Given the description of an element on the screen output the (x, y) to click on. 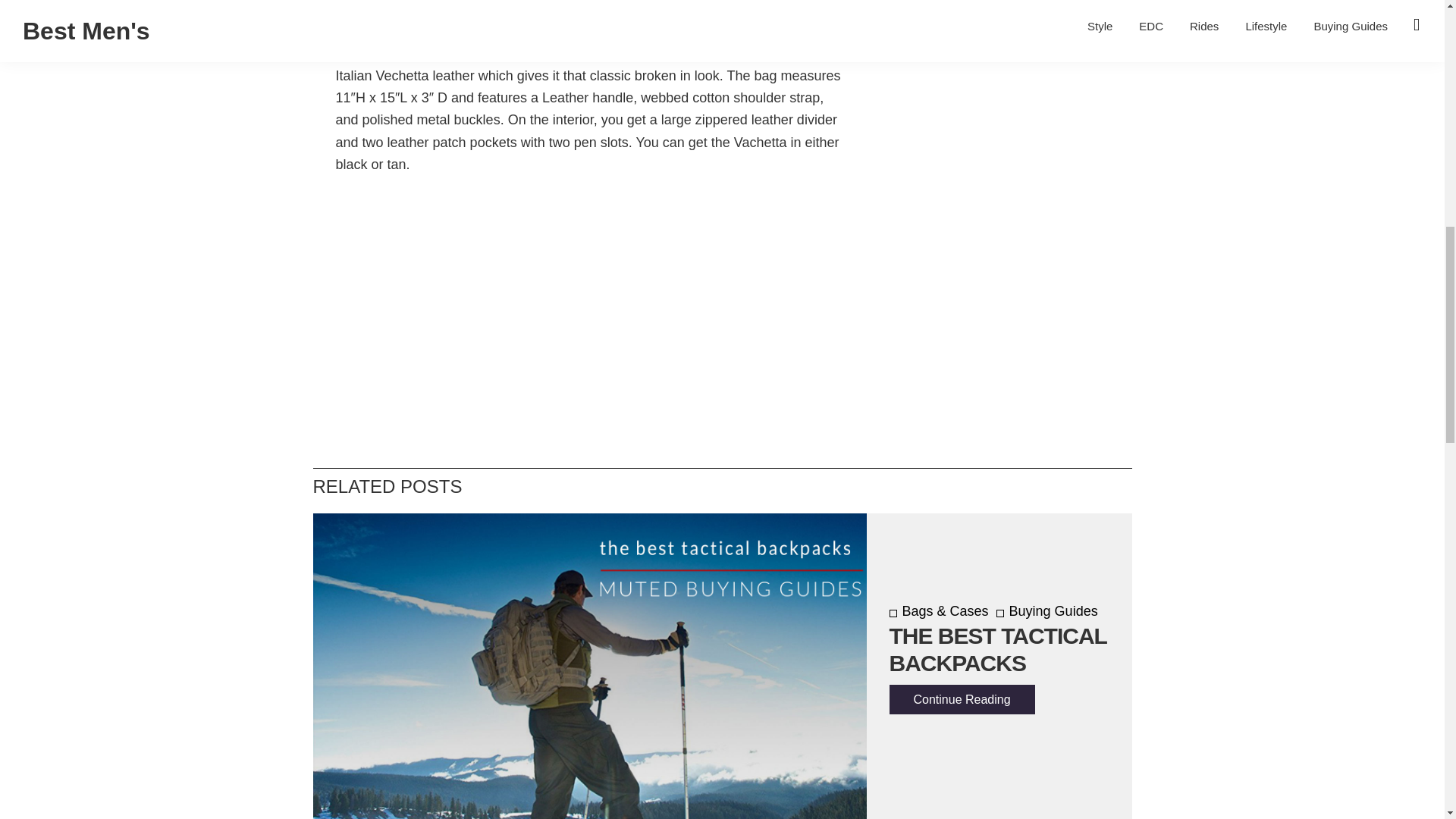
Continue Reading (960, 699)
THE BEST TACTICAL BACKPACKS (997, 649)
Buying Guides (1046, 611)
